Given the description of an element on the screen output the (x, y) to click on. 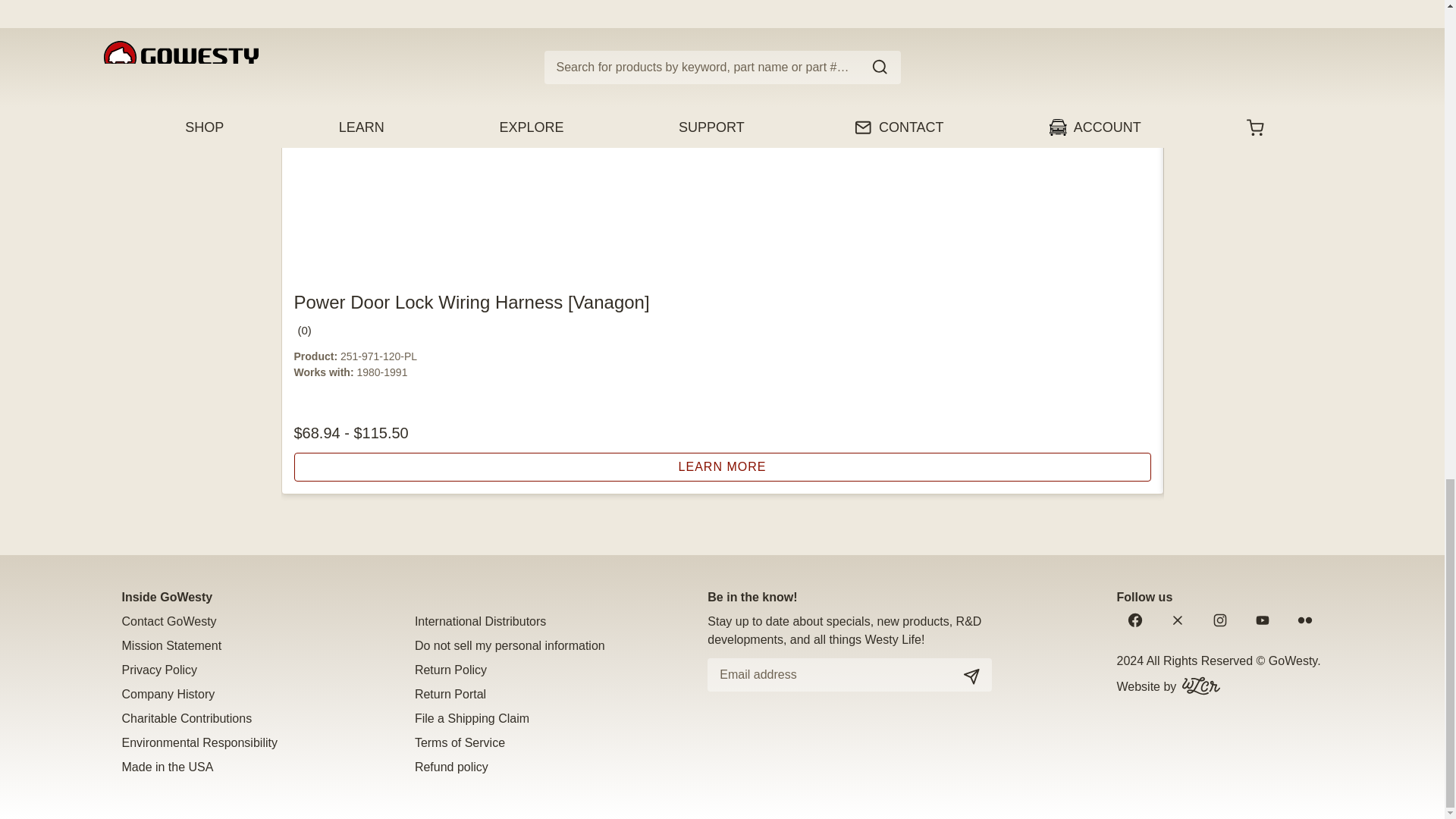
LEARN MORE (722, 466)
GoWesty on Facebook (1134, 619)
GoWesty on Twitter (1176, 619)
GoWesty on YouTube (1261, 619)
GoWesty on Flickr (1303, 619)
GoWesty on Instagram (1219, 619)
